Given the description of an element on the screen output the (x, y) to click on. 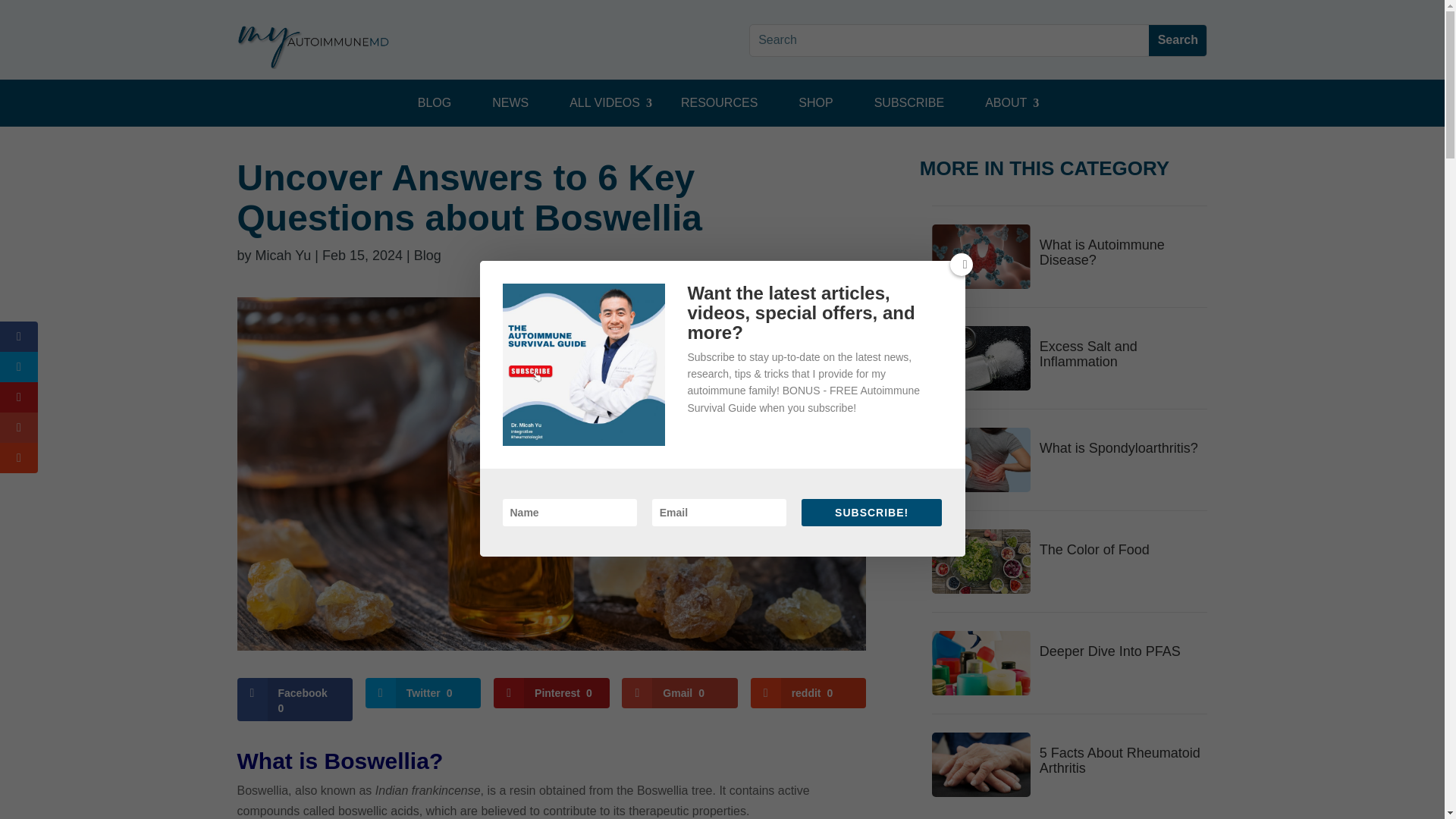
NEWS (510, 102)
Search (1177, 40)
SHOP (815, 102)
Posts by Micah Yu (283, 255)
Search (1177, 40)
RESOURCES (719, 102)
BLOG (434, 102)
ABOUT (1005, 102)
MYAUTOIMMUNEMD-LOGO-01 (311, 46)
SUBSCRIBE (908, 102)
ALL VIDEOS (604, 102)
Search (1177, 40)
